Given the description of an element on the screen output the (x, y) to click on. 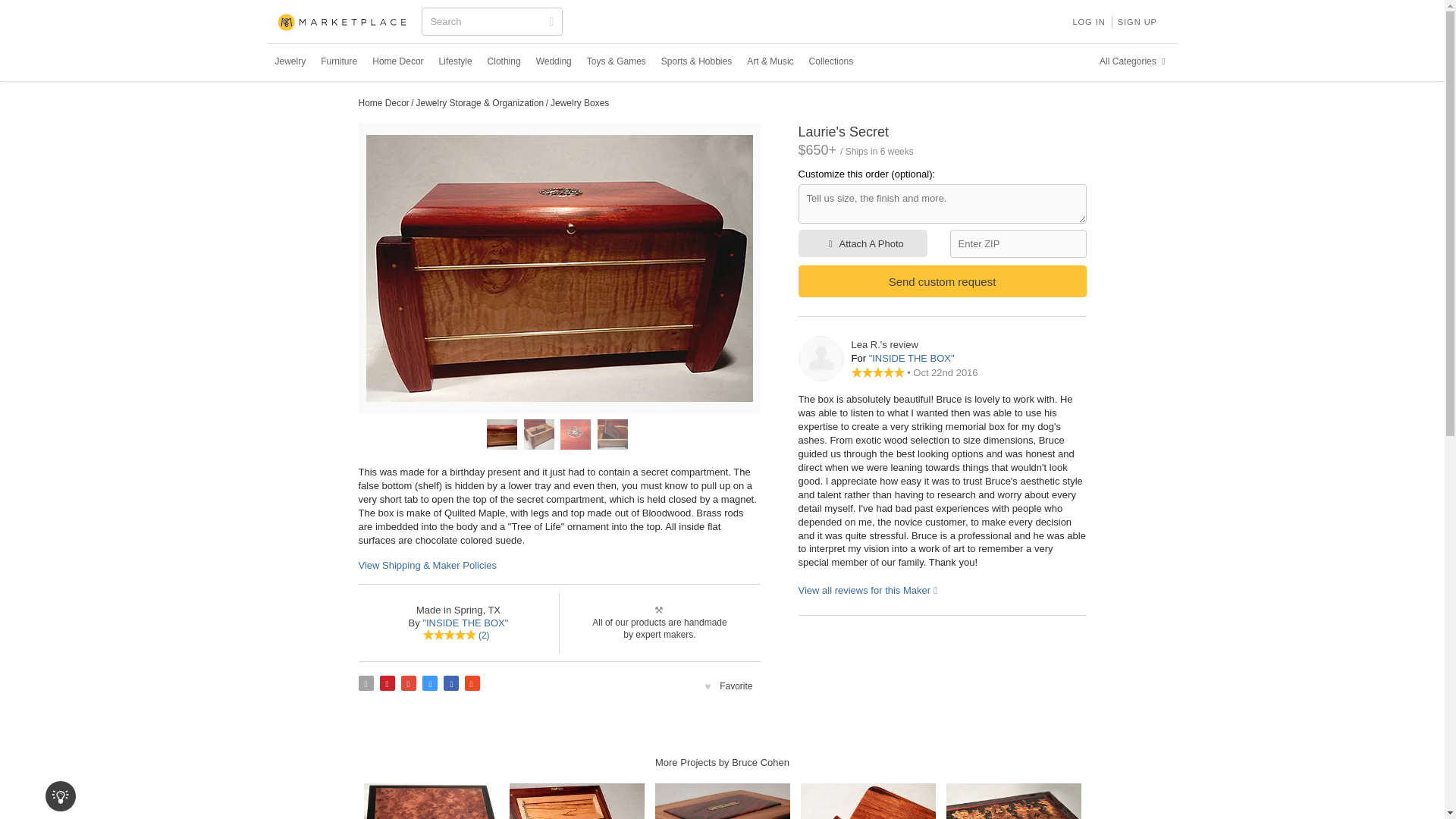
Custom Jewelry (289, 61)
Jewelry (289, 61)
LOG IN (1087, 21)
CUSTOMMADE (342, 22)
Log in to CustomMade (1087, 21)
All Categories (1134, 61)
SIGN UP (1137, 21)
